Given the description of an element on the screen output the (x, y) to click on. 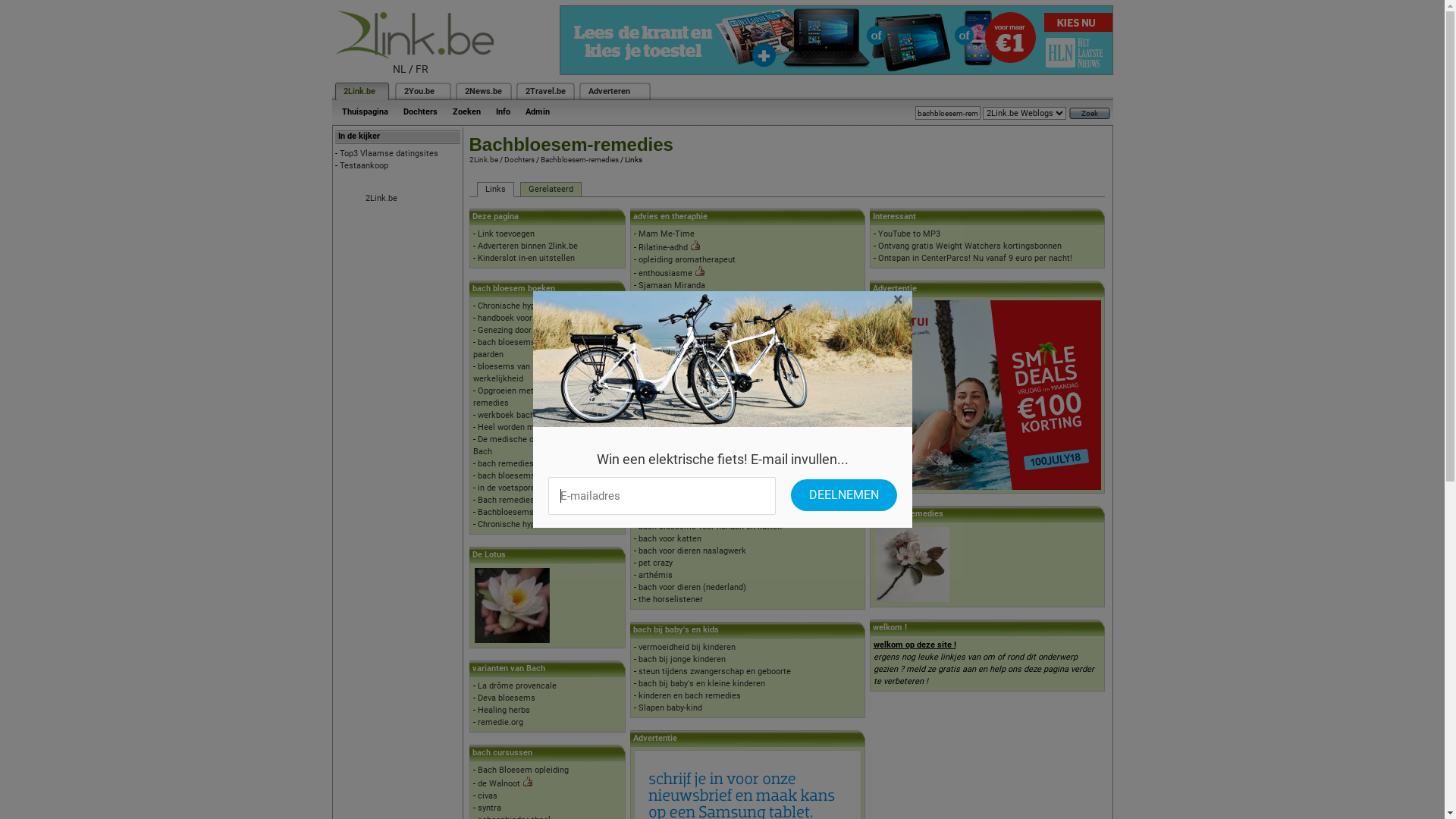
Admin Element type: text (536, 111)
2You.be Element type: text (418, 91)
Healing herbs Element type: text (503, 710)
Zoeken Element type: text (465, 111)
bach voor vrouwen Element type: text (673, 406)
Bachbloesems Element type: text (505, 512)
Testaankoop Element type: text (363, 165)
opleiding aromatherapeut Element type: text (686, 297)
Kinderslot in-en uitstellen Element type: text (525, 258)
Zoek Element type: text (1089, 113)
remedie.org Element type: text (500, 722)
bach bloesems voor honden en paarden Element type: text (533, 348)
the horselistener Element type: text (670, 599)
2News.be Element type: text (482, 91)
steun tijdens zwangerschap en geboorte Element type: text (714, 671)
werkboek bach bloesems Element type: text (525, 415)
Thuispagina Element type: text (364, 111)
Top3 Vlaamse datingsites Element type: text (388, 153)
Hyperventilatie Element type: text (666, 309)
in de voetsporen van dr. edward bach Element type: text (546, 487)
pet crazy Element type: text (655, 562)
Heel worden met Bach bloemen Element type: text (537, 427)
2Link.be Element type: text (381, 198)
bach voor katten Element type: text (669, 514)
Huilbaby Element type: text (654, 321)
Link toevoegen Element type: text (505, 233)
bach bloesems als sleutel tot de ziel Element type: text (546, 475)
bach remedies stap voor stap Element type: text (533, 463)
kinderen en bach remedies Element type: text (689, 695)
Genezing door bloemen Element type: text (521, 330)
Ontspan in CenterParcs! Nu vanaf 9 euro per nacht! Element type: text (975, 258)
Bach remedies Element type: text (505, 500)
civas Element type: text (487, 795)
bach bij knaagdieren Element type: text (677, 502)
FR Element type: text (421, 68)
opleiding aromatherapeut Element type: text (686, 259)
bachrescue Element type: text (660, 393)
bach bloesems voor honden en katten Element type: text (709, 526)
Chronische hyperventilatie Element type: text (527, 305)
Links Element type: text (494, 189)
de Walnoot Element type: text (498, 783)
De medische ontdekkingen van Dr. E Bach Element type: text (543, 445)
Namami bachbloesems Element type: text (683, 333)
Bach Bloesem opleiding Element type: text (522, 770)
Zwanger worden Element type: text (669, 430)
handboek voor de bloesemtherapie Element type: text (543, 318)
Bachbloesem-remedies Element type: text (578, 159)
bach voor dieren (nederland) Element type: text (692, 587)
bach voor katten Element type: text (669, 538)
Dochters Element type: text (518, 159)
vermoeidheid bij kinderen Element type: text (686, 647)
Deva bloesems Element type: text (506, 697)
2Travel.be Element type: text (544, 91)
bach voor dieren naslagwerk Element type: text (692, 550)
Nelsons natural world Element type: text (679, 381)
Ontvang gratis Weight Watchers kortingsbonnen Element type: text (969, 246)
YouTube to MP3 Element type: text (909, 233)
syntra Element type: text (489, 807)
Mam Me-Time Element type: text (666, 233)
Adverteren Element type: text (609, 91)
Opgroeien met bach bloesem remedies Element type: text (531, 396)
2Link.be Element type: text (358, 91)
Chronische hyperventilatie Element type: text (527, 524)
enthousiasme Element type: text (665, 273)
bach bij baby's en kleine kinderen Element type: text (701, 683)
bach bij jonge kinderen Element type: text (681, 659)
Zwanger worden Element type: text (669, 442)
Info Element type: text (502, 111)
Adverteren binnen 2link.be Element type: text (527, 246)
Slapen baby-kind Element type: text (670, 707)
Rilatine-adhd Element type: text (662, 247)
Dochters Element type: text (420, 111)
Gerelateerd Element type: text (550, 189)
2Link.be Element type: text (482, 159)
bach voor paarden Element type: text (672, 490)
Sjamaan Miranda Element type: text (671, 285)
NL Element type: text (399, 68)
bloesems van sprookje naar werkelijkheid Element type: text (528, 372)
